Given the description of an element on the screen output the (x, y) to click on. 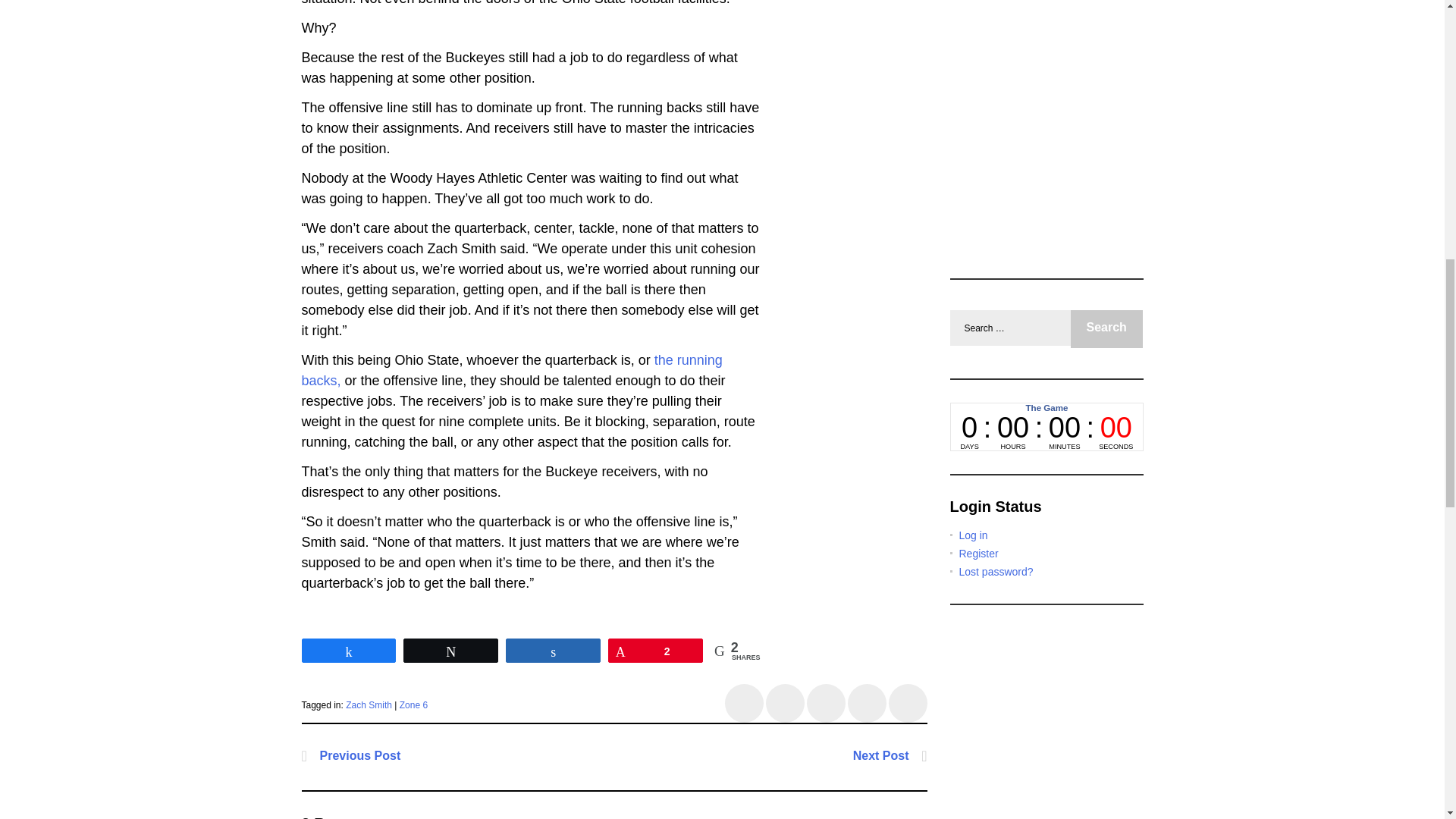
Share on LinkedIn (866, 702)
Advertisement (1062, 120)
Share on Facebook (743, 702)
Share on Twitter (785, 702)
Search for: (1009, 327)
TickCounter countdown widget (1045, 426)
Share on Pinterest (907, 702)
